Given the description of an element on the screen output the (x, y) to click on. 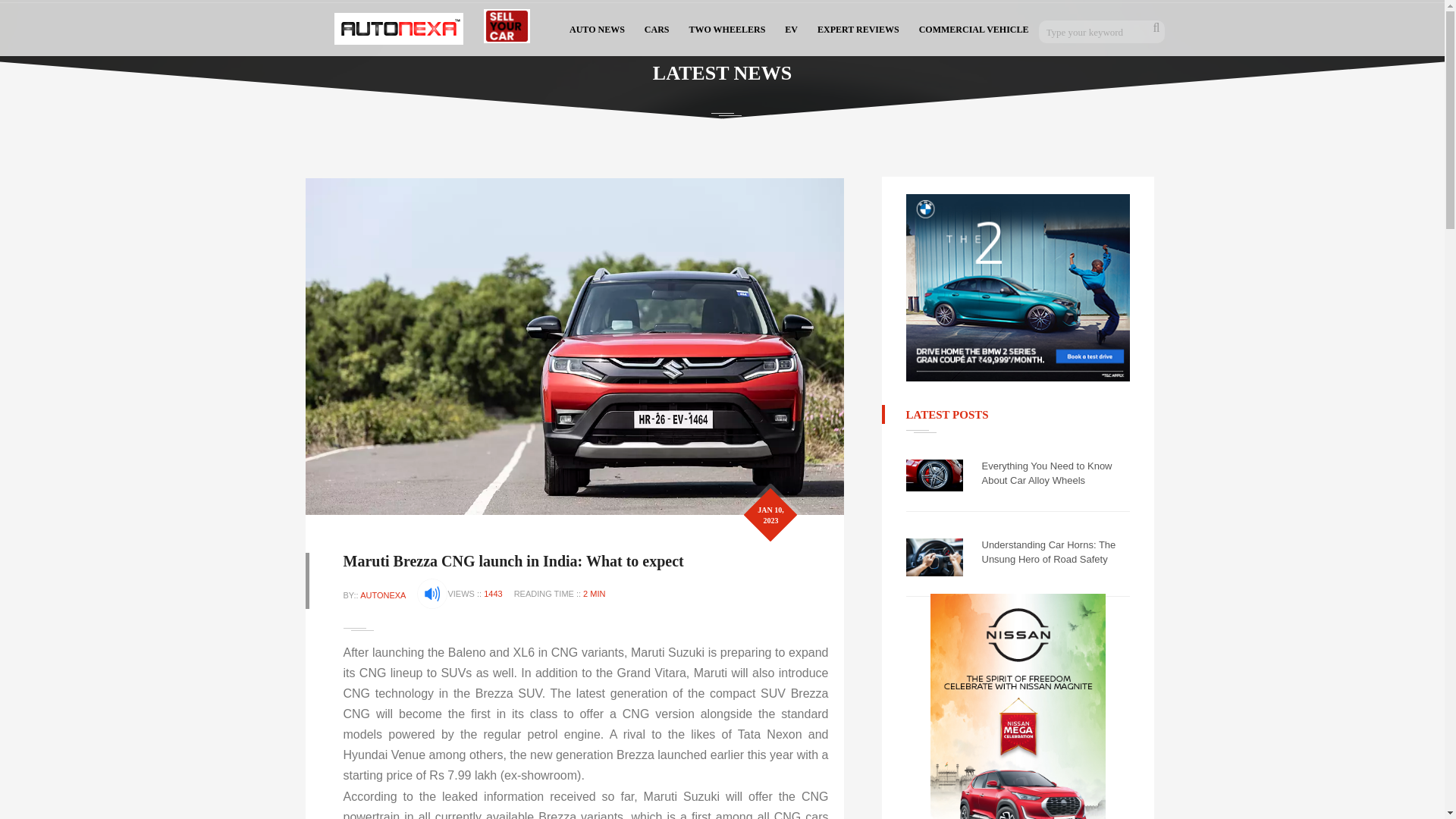
CARS (656, 28)
TWO WHEELERS (727, 28)
AUTONEXA (382, 594)
1443 (492, 593)
COMMERCIAL VEHICLE (973, 28)
Everything You Need to Know About Car Alloy Wheels (1055, 473)
EXPERT REVIEWS (858, 28)
2 MIN (594, 593)
AUTO NEWS (596, 28)
